Given the description of an element on the screen output the (x, y) to click on. 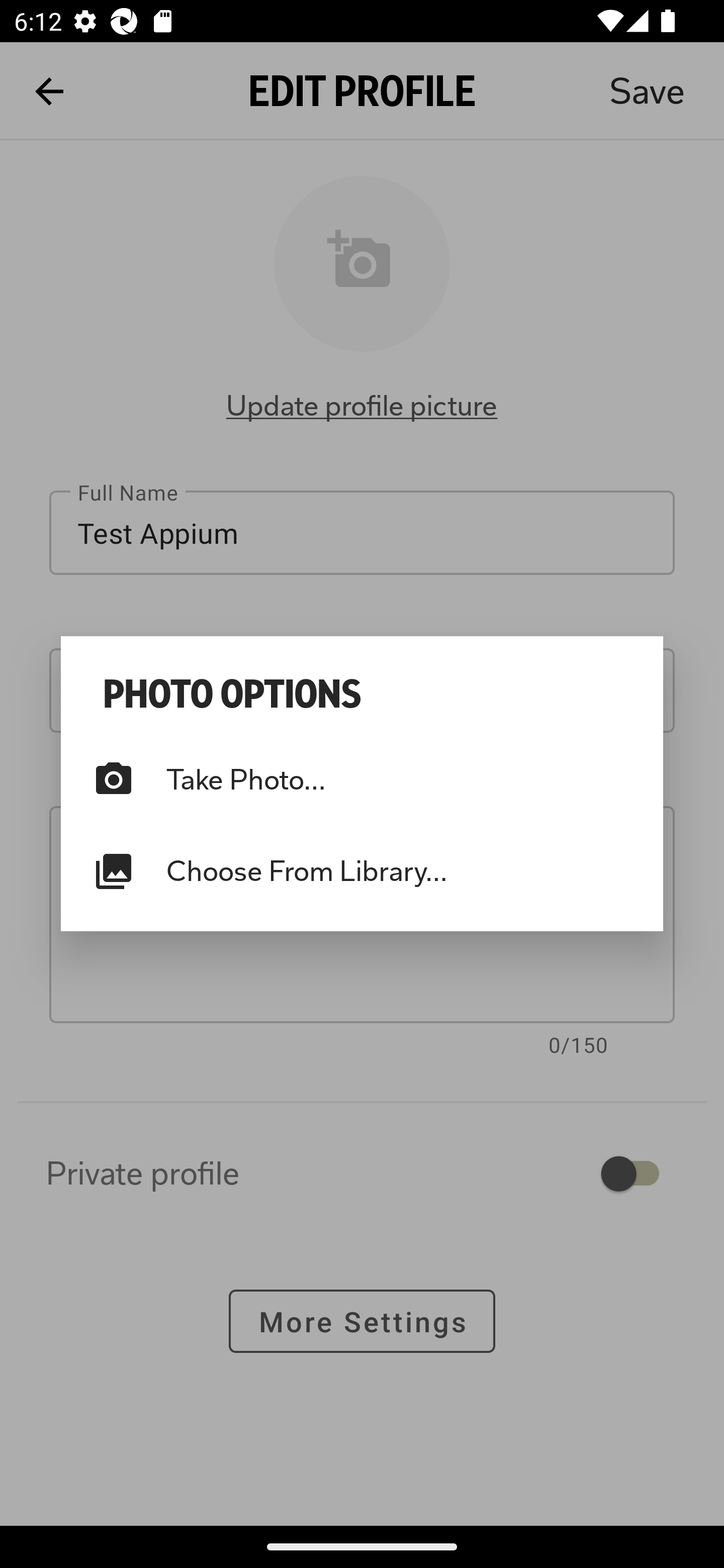
Take Photo… (361, 779)
Choose From Library… (361, 871)
